Given the description of an element on the screen output the (x, y) to click on. 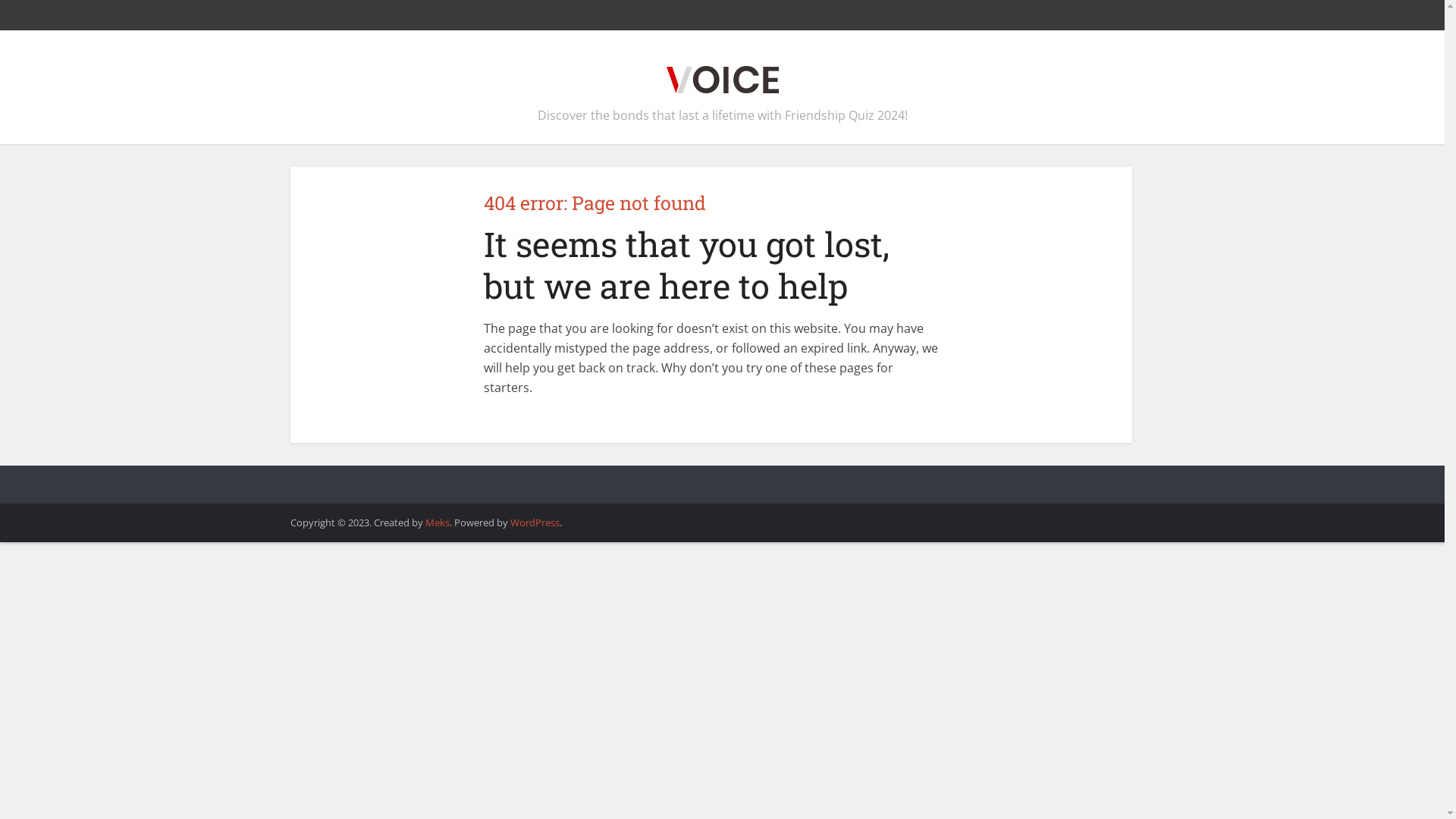
WordPress Element type: text (533, 522)
Meks Element type: text (436, 522)
